Given the description of an element on the screen output the (x, y) to click on. 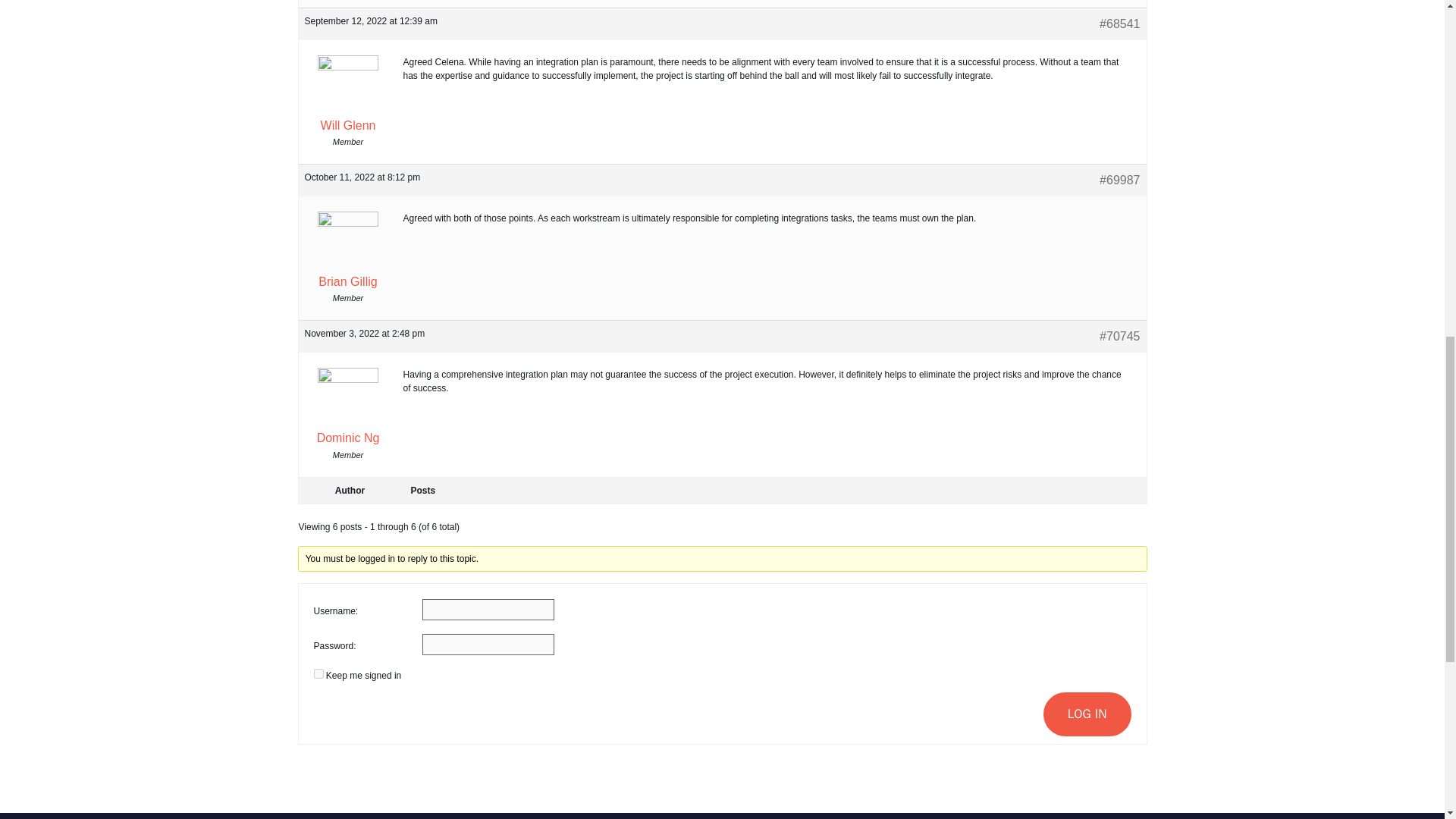
View Brian Gillig's profile (347, 253)
forever (318, 673)
View Dominic Ng's profile (347, 409)
View Will Glenn's profile (347, 97)
